Given the description of an element on the screen output the (x, y) to click on. 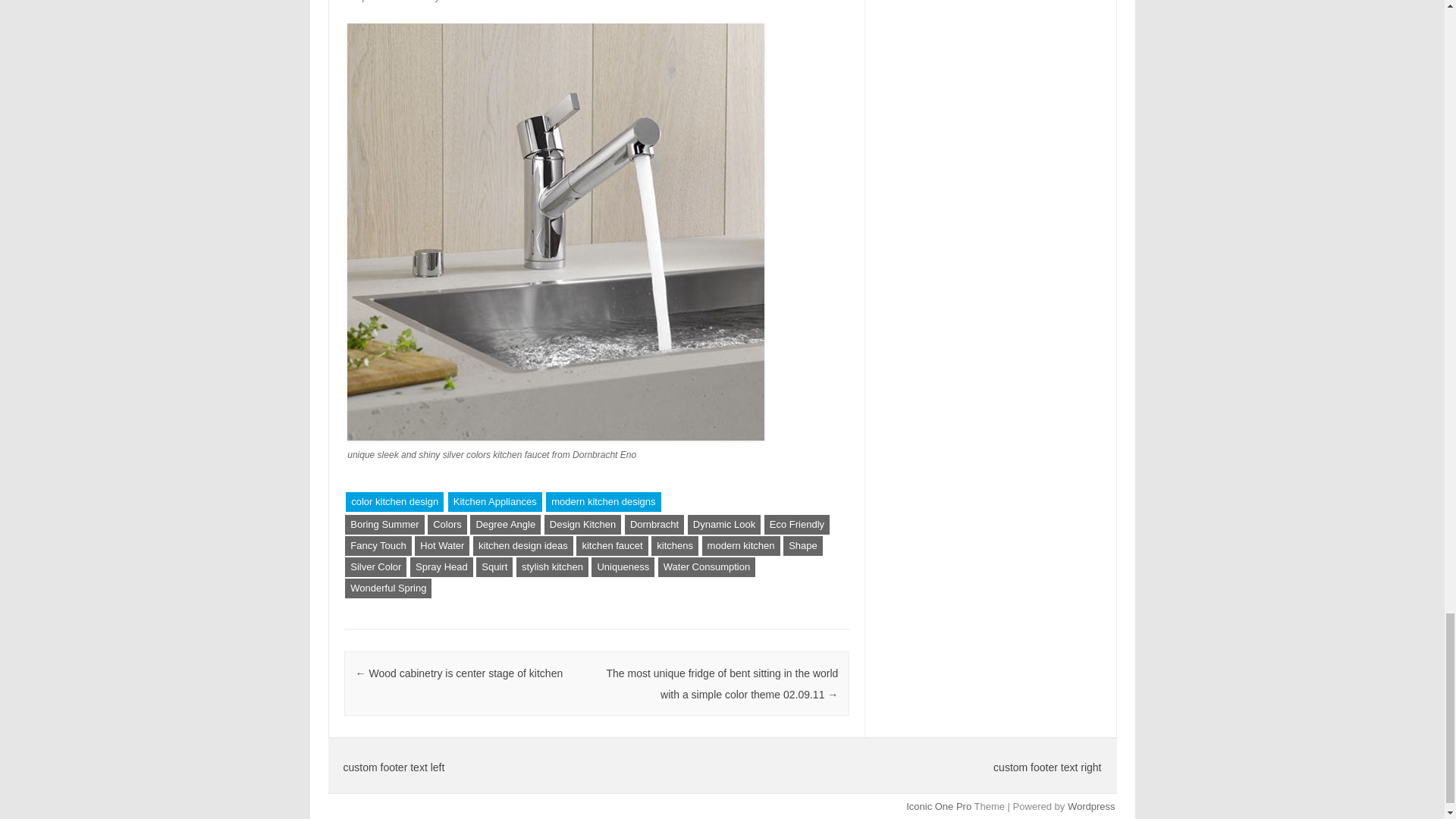
Fancy Touch (377, 546)
Silver Color (375, 567)
kitchens (674, 546)
modern kitchen designs (603, 501)
Design Kitchen (582, 524)
Dynamic Look (723, 524)
kitchen design ideas (523, 546)
Eco Friendly (796, 524)
Boring Summer (384, 524)
Hot Water (441, 546)
Degree Angle (505, 524)
Spray Head (441, 567)
color kitchen design (395, 501)
Dornbracht (654, 524)
